Given the description of an element on the screen output the (x, y) to click on. 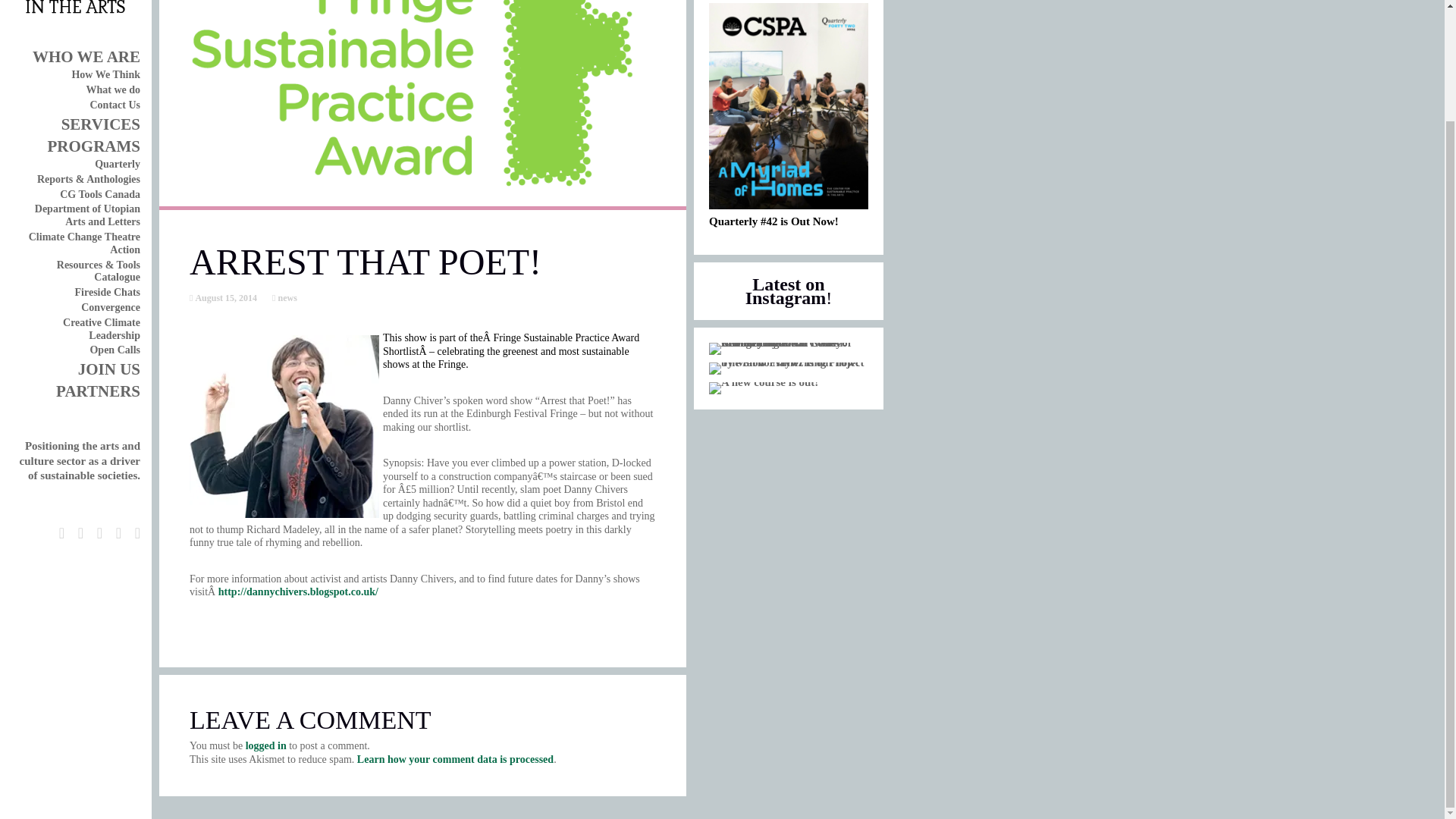
Open Calls (113, 349)
WHO WE ARE (85, 56)
SERVICES (100, 124)
Creative Climate Leadership (100, 328)
Permalink to Arrest that Poet! (224, 297)
August 15, 2014 (224, 297)
PARTNERS (97, 391)
JOIN US (108, 369)
Learn how your comment data is processed (454, 758)
news (286, 297)
